Given the description of an element on the screen output the (x, y) to click on. 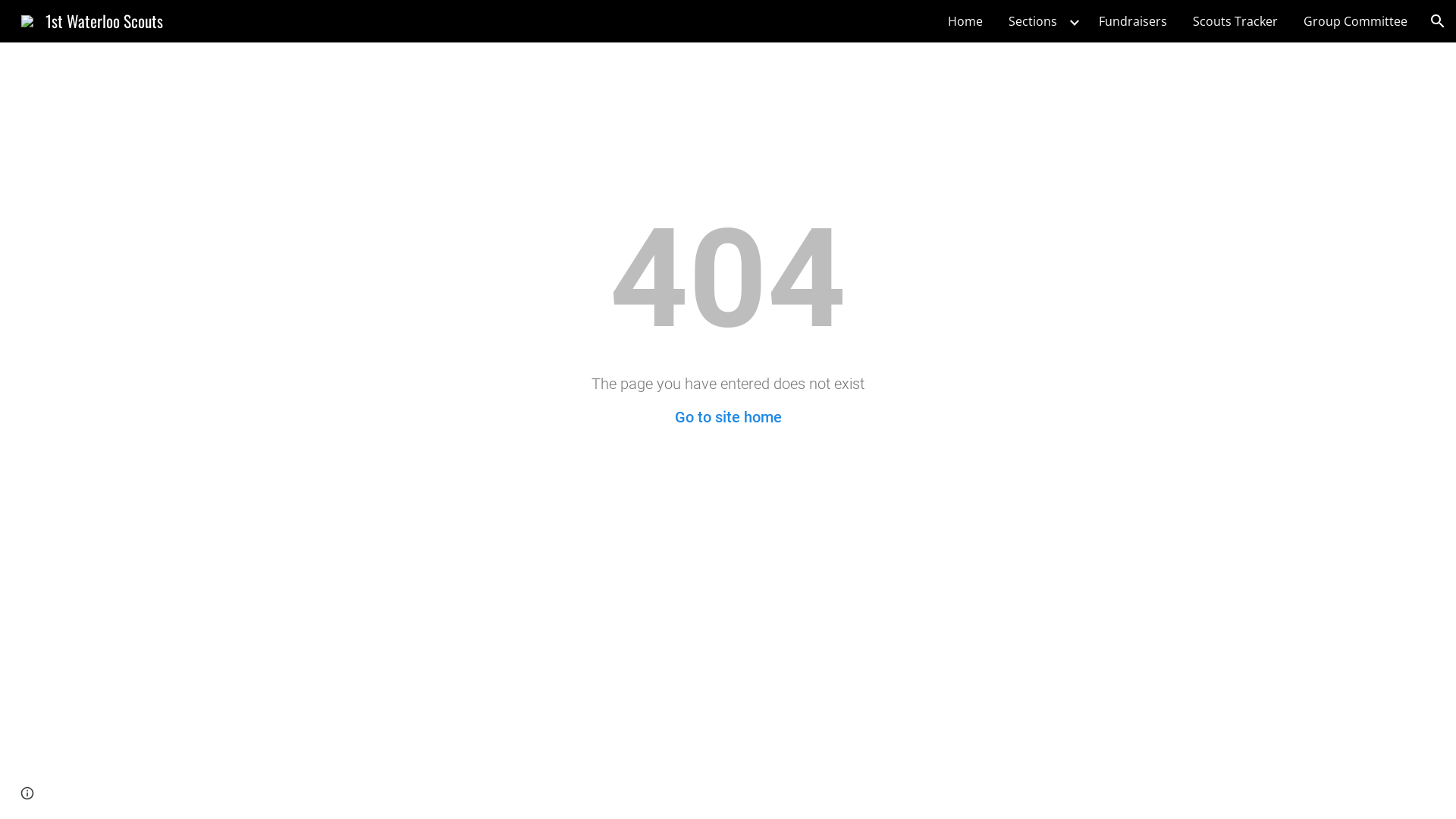
Home Element type: text (965, 20)
Group Committee Element type: text (1355, 20)
Sections Element type: text (1032, 20)
Scouts Tracker Element type: text (1235, 20)
1st Waterloo Scouts Element type: text (92, 18)
Go to site home Element type: text (727, 416)
Expand/Collapse Element type: hover (1073, 20)
Fundraisers Element type: text (1132, 20)
